Given the description of an element on the screen output the (x, y) to click on. 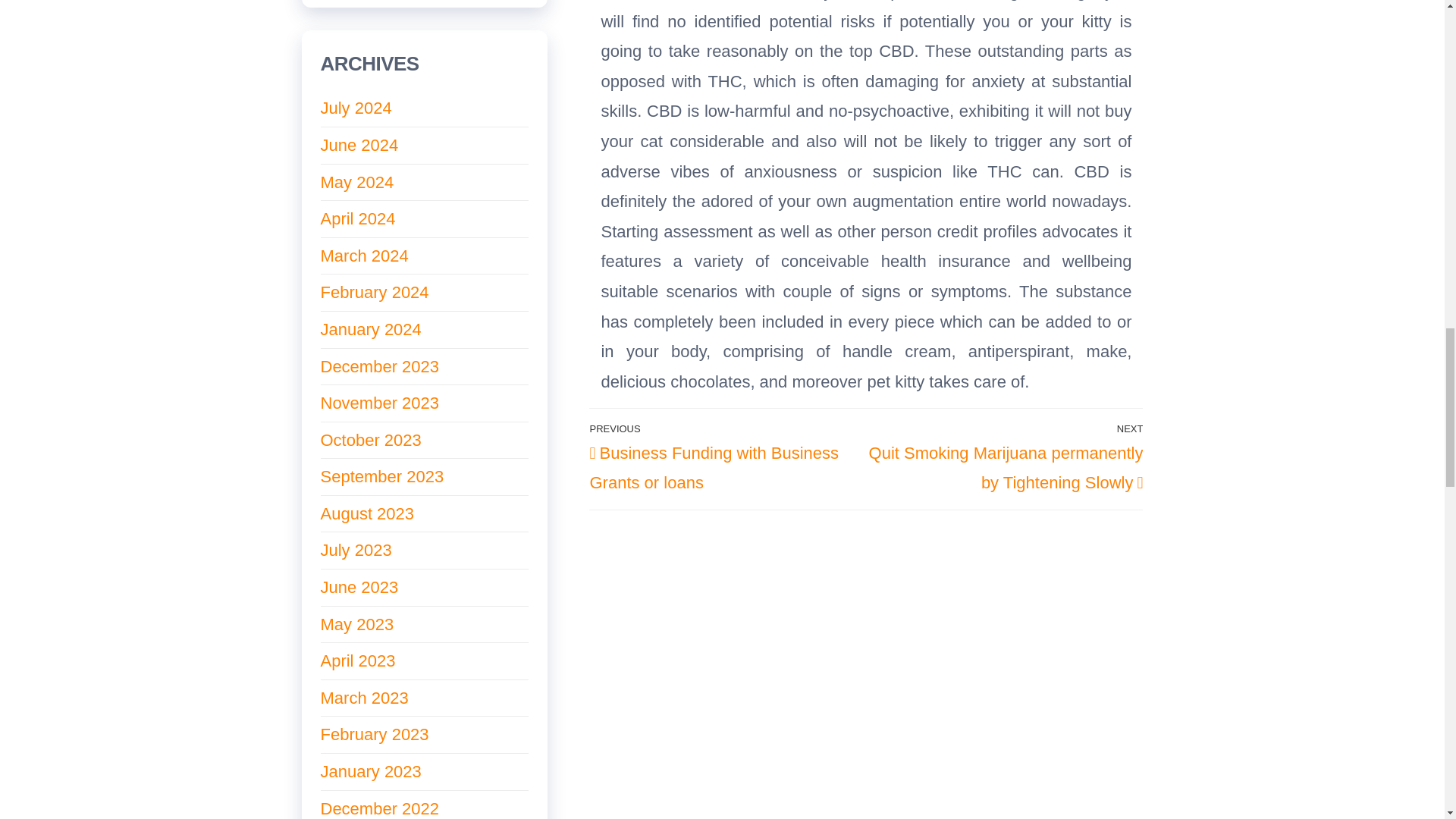
January 2024 (370, 329)
November 2023 (379, 402)
April 2023 (357, 660)
April 2024 (357, 218)
June 2023 (358, 587)
August 2023 (366, 513)
February 2023 (374, 733)
July 2023 (355, 549)
October 2023 (370, 439)
May 2024 (356, 181)
September 2023 (382, 476)
June 2024 (358, 144)
December 2022 (379, 808)
February 2024 (374, 292)
